Given the description of an element on the screen output the (x, y) to click on. 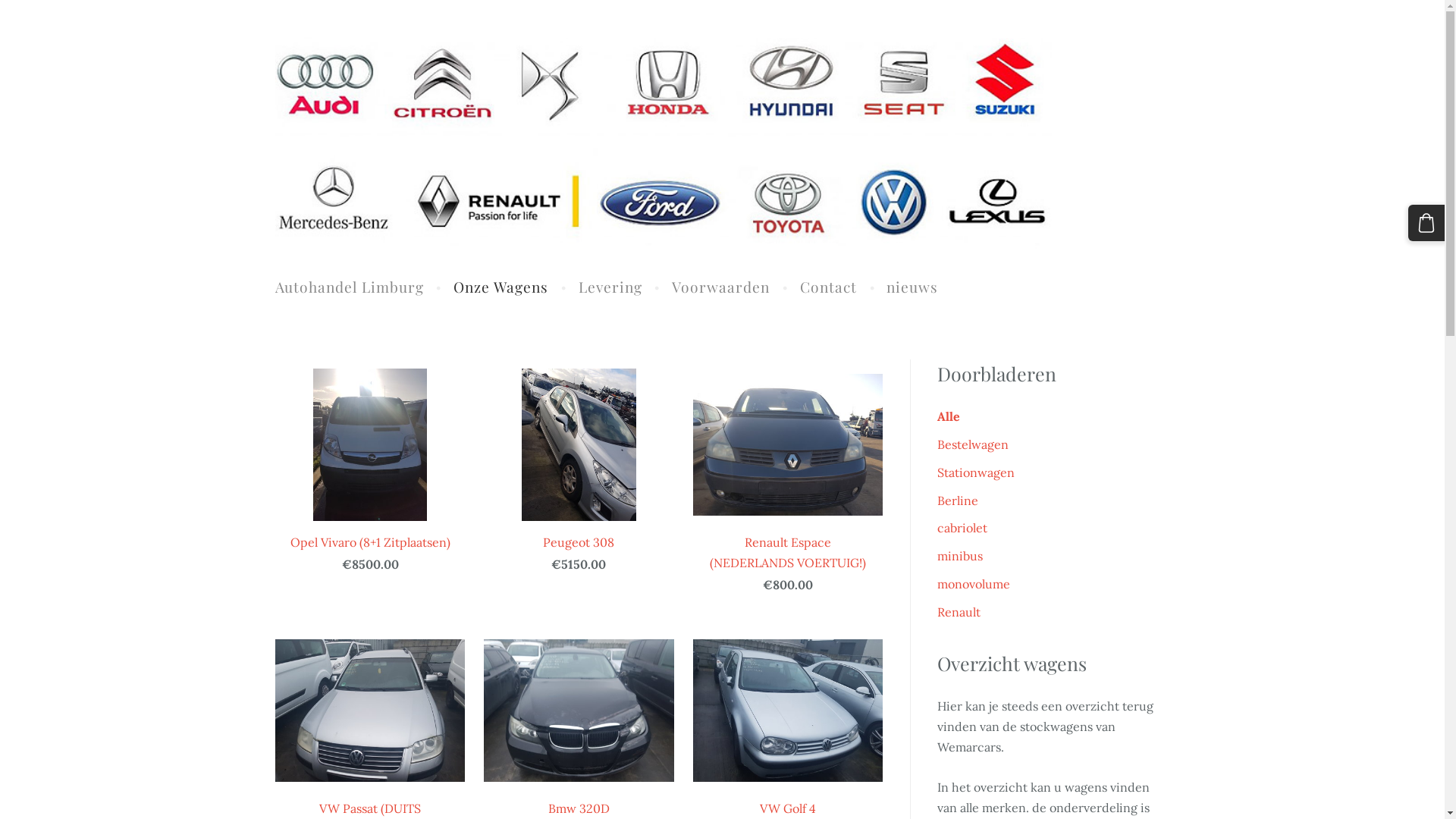
nieuws Element type: text (912, 287)
Autohandel Limburg Element type: text (349, 287)
Renault Element type: text (958, 612)
Alle Element type: text (948, 416)
Bestelwagen Element type: text (972, 444)
Renault Espace (NEDERLANDS VOERTUIG!) Element type: text (788, 470)
Voorwaarden Element type: text (720, 287)
Contact Element type: text (828, 287)
minibus Element type: text (959, 556)
Levering Element type: text (610, 287)
Opel Vivaro (8+1 Zitplaatsen) Element type: text (370, 460)
cabriolet Element type: text (962, 527)
monovolume Element type: text (973, 584)
Peugeot 308 Element type: text (578, 460)
Onze Wagens Element type: text (500, 287)
Stationwagen Element type: text (975, 472)
Berline Element type: text (957, 500)
